Given the description of an element on the screen output the (x, y) to click on. 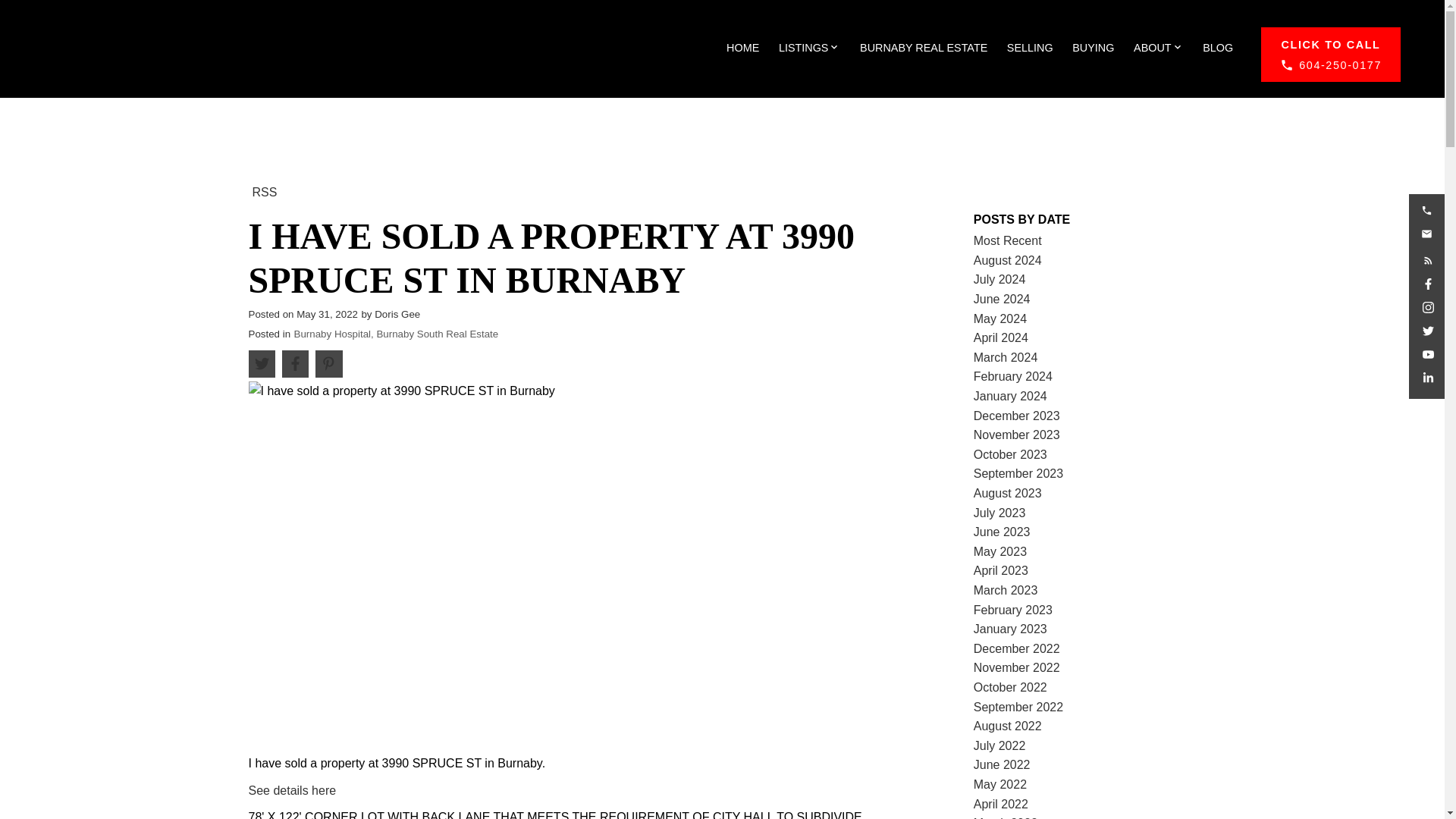
RSS (264, 191)
BLOG (1217, 48)
Most Recent (1008, 240)
SELLING (1029, 48)
August 2024 (1008, 259)
June 2024 (1002, 298)
ABOUT (1153, 48)
LISTINGS (803, 48)
HOME (742, 48)
604-250-0177 (1330, 54)
